Given the description of an element on the screen output the (x, y) to click on. 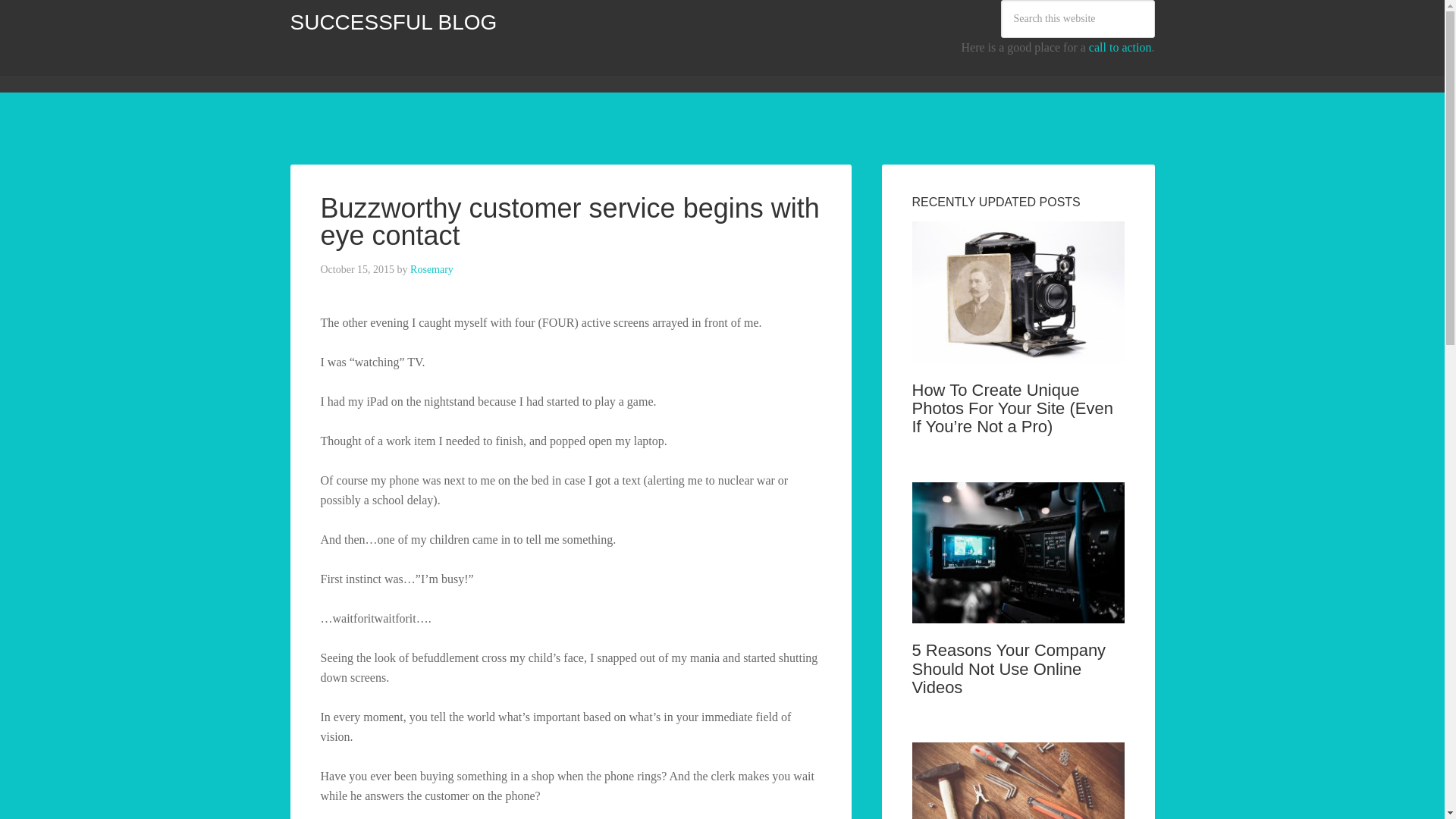
Rosemary (431, 269)
Home (315, 68)
Community (384, 68)
Author Guidelines (535, 68)
About (452, 68)
5 Reasons Your Company Should Not Use Online Videos (1008, 668)
call to action (1120, 47)
Stay Tuned (707, 68)
SUCCESSFUL BLOG (392, 22)
